Given the description of an element on the screen output the (x, y) to click on. 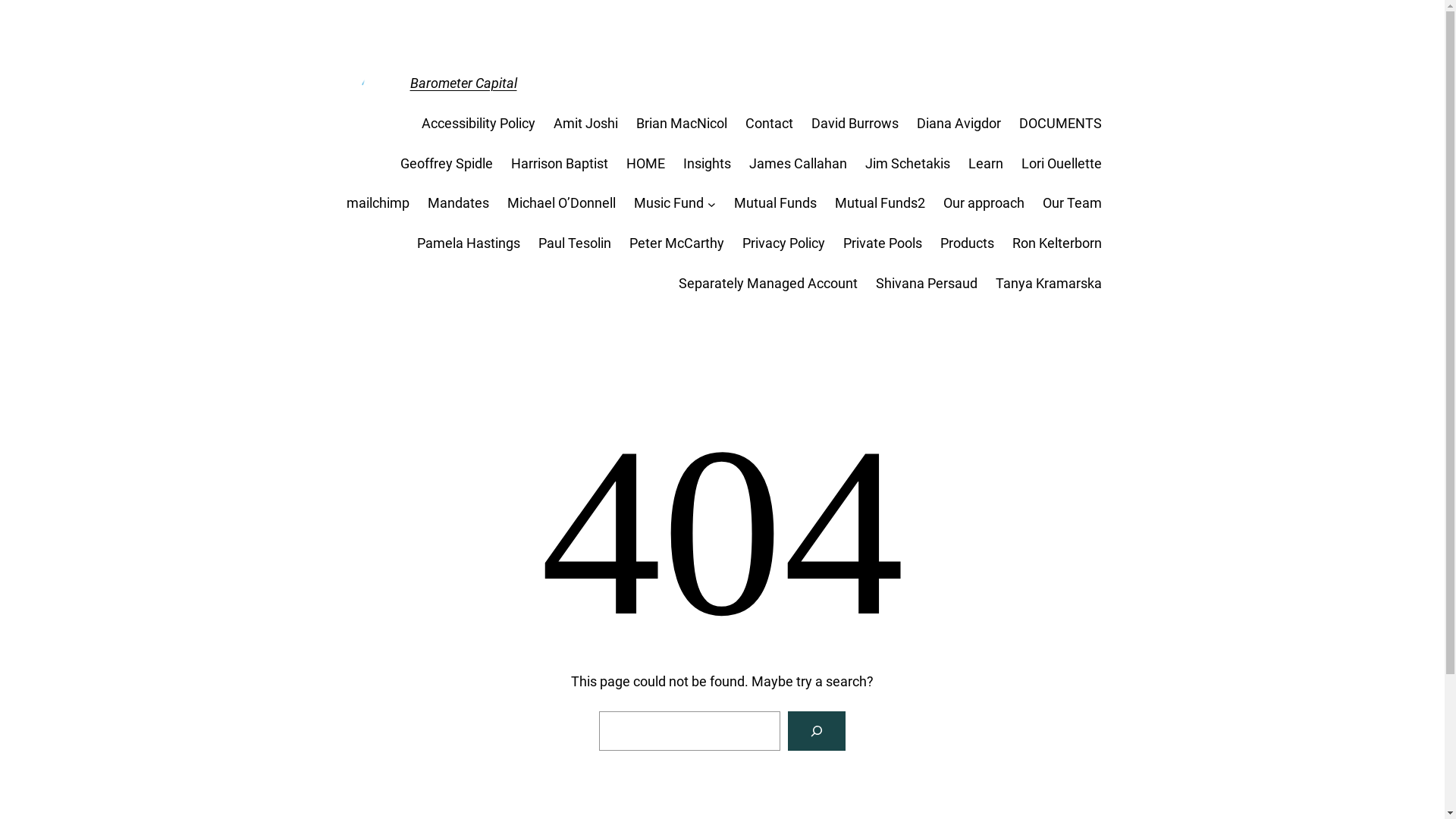
Shivana Persaud Element type: text (925, 283)
Contact Element type: text (768, 123)
Diana Avigdor Element type: text (958, 123)
Products Element type: text (967, 243)
Peter McCarthy Element type: text (676, 243)
Our Team Element type: text (1071, 203)
Music Fund Element type: text (668, 203)
HOME Element type: text (645, 164)
Mutual Funds2 Element type: text (879, 203)
Geoffrey Spidle Element type: text (446, 164)
DOCUMENTS Element type: text (1060, 123)
Barometer Capital Element type: text (462, 83)
Amit Joshi Element type: text (585, 123)
Pamela Hastings Element type: text (468, 243)
Private Pools Element type: text (882, 243)
Learn Element type: text (984, 164)
Our approach Element type: text (983, 203)
David Burrows Element type: text (854, 123)
Mandates Element type: text (458, 203)
mailchimp Element type: text (377, 203)
Paul Tesolin Element type: text (574, 243)
James Callahan Element type: text (798, 164)
Insights Element type: text (706, 164)
Harrison Baptist Element type: text (559, 164)
Separately Managed Account Element type: text (766, 283)
Lori Ouellette Element type: text (1060, 164)
Jim Schetakis Element type: text (906, 164)
Ron Kelterborn Element type: text (1056, 243)
Privacy Policy Element type: text (782, 243)
Brian MacNicol Element type: text (680, 123)
Mutual Funds Element type: text (775, 203)
Accessibility Policy Element type: text (478, 123)
Tanya Kramarska Element type: text (1047, 283)
